Given the description of an element on the screen output the (x, y) to click on. 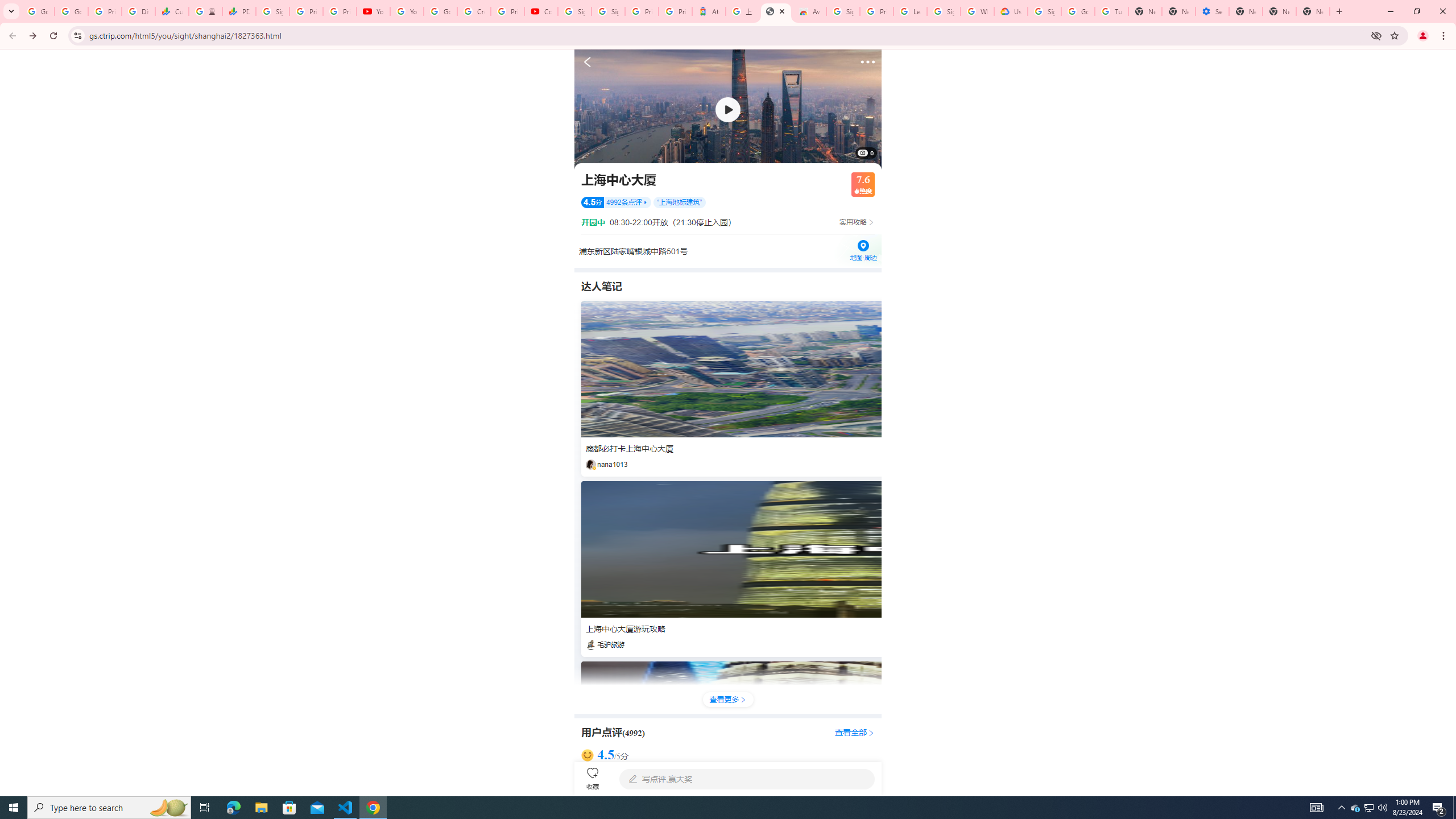
Sign in - Google Accounts (608, 11)
Sign in - Google Accounts (943, 11)
Sign in - Google Accounts (272, 11)
Content Creator Programs & Opportunities - YouTube Creators (541, 11)
Sign in - Google Accounts (842, 11)
YouTube (406, 11)
To get missing image descriptions, open the context menu. (727, 109)
Google Account Help (1077, 11)
